Given the description of an element on the screen output the (x, y) to click on. 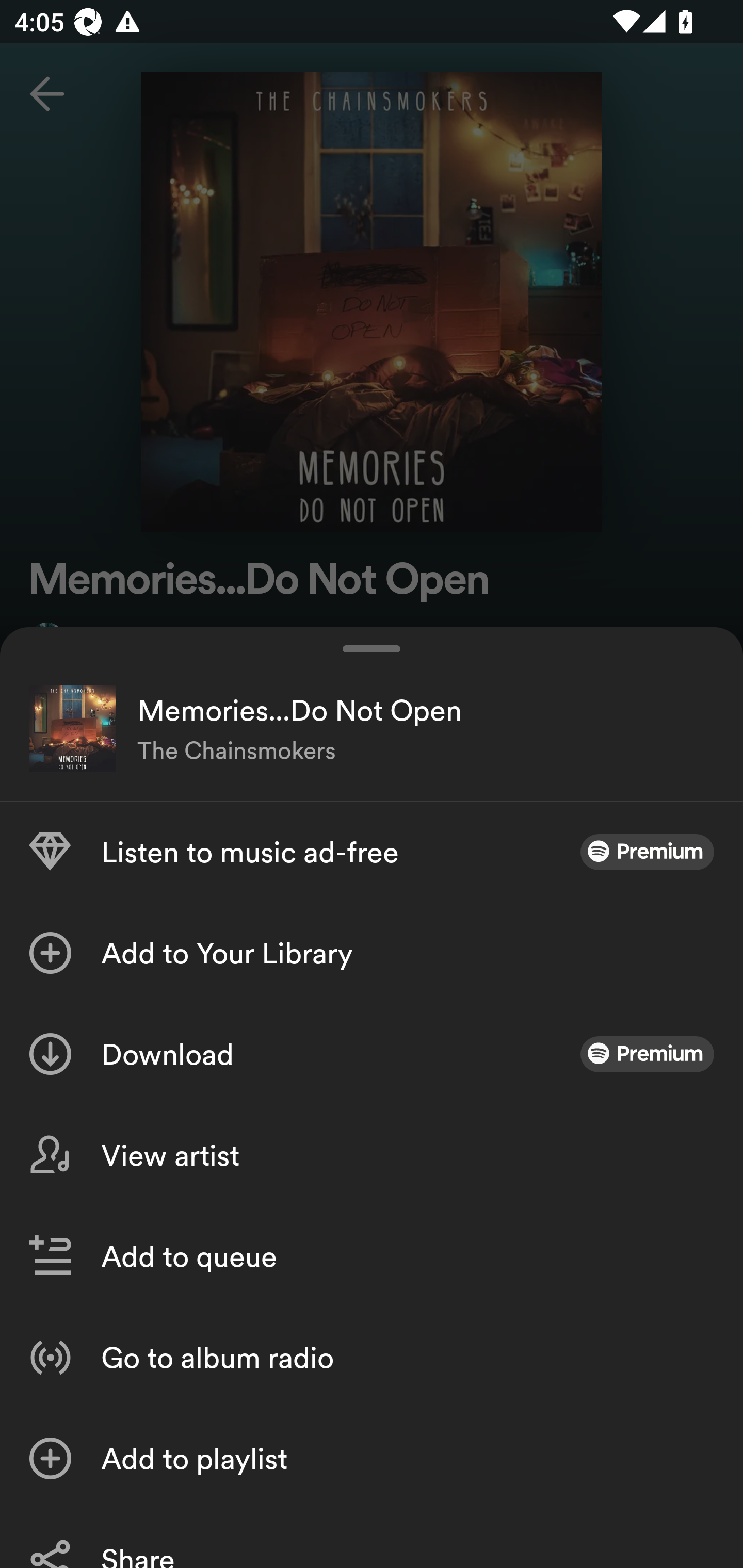
Listen to music ad-free (371, 852)
Add to Your Library (371, 953)
Download (371, 1054)
View artist (371, 1155)
Add to queue (371, 1256)
Go to album radio (371, 1357)
Add to playlist (371, 1458)
Share (371, 1538)
